Given the description of an element on the screen output the (x, y) to click on. 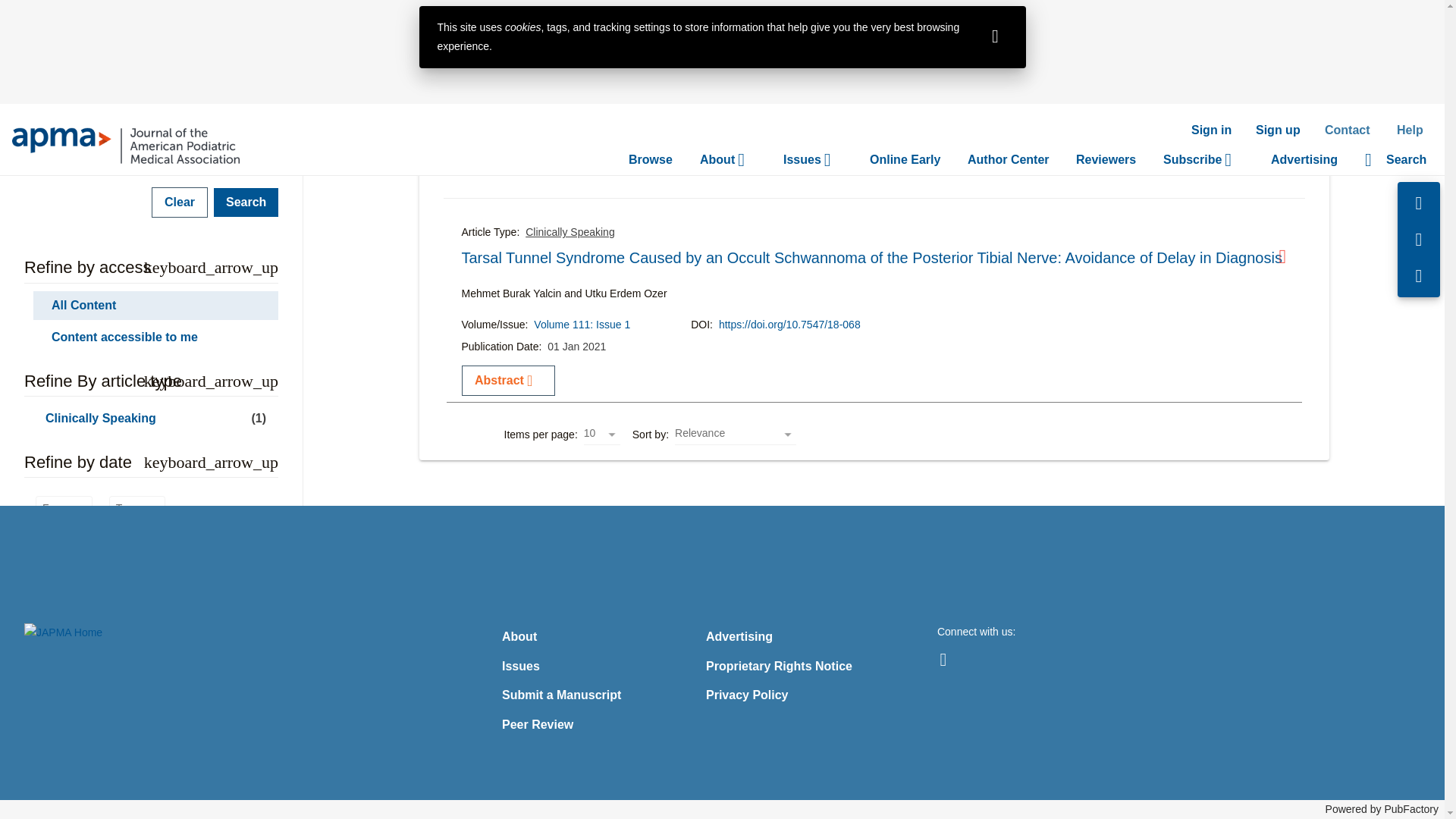
Utku Erdem Ozer (240, 131)
Dismiss this warning (994, 36)
Jump to Content (40, 10)
Sign in (1211, 130)
Search (246, 202)
